Given the description of an element on the screen output the (x, y) to click on. 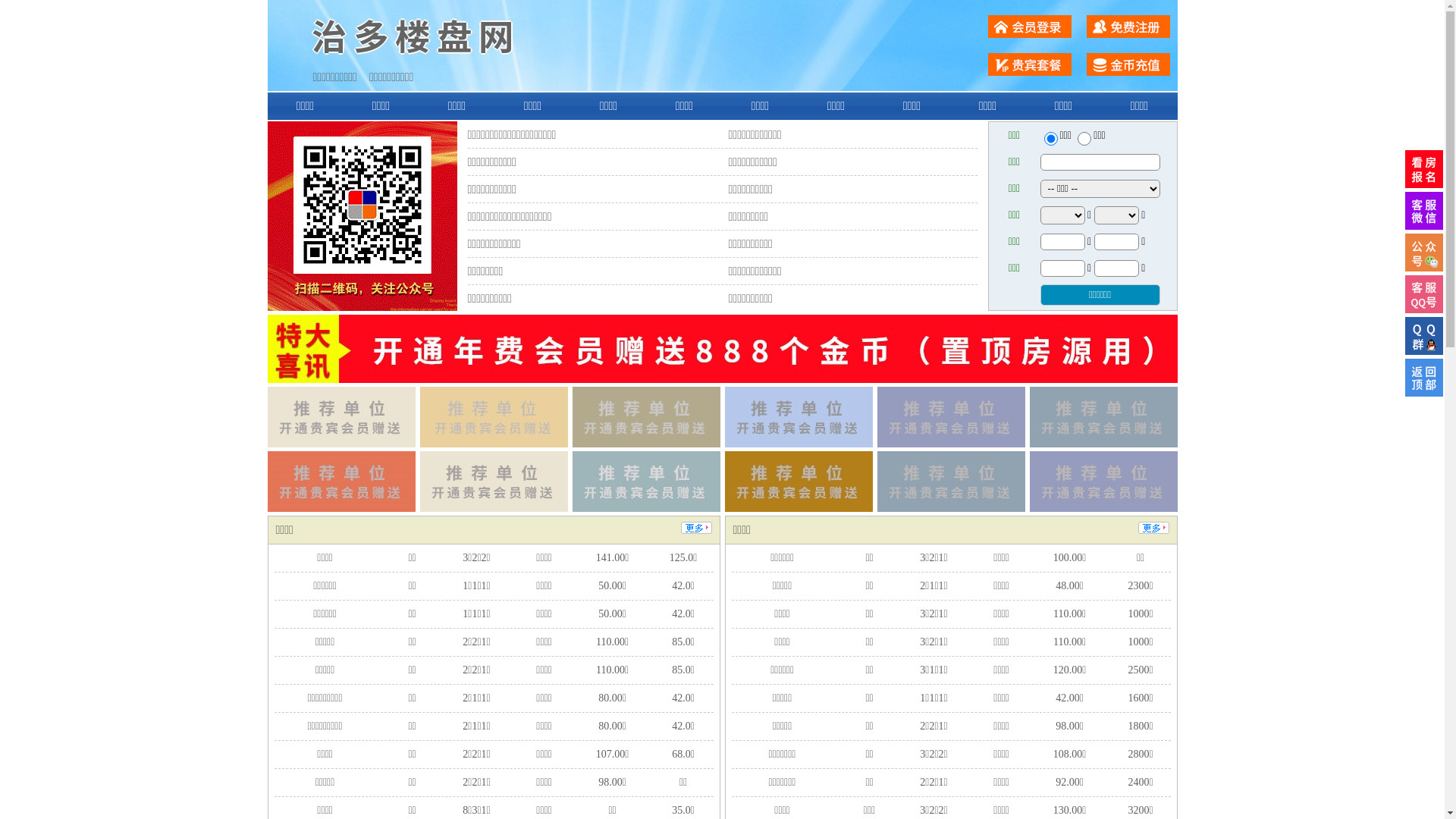
ershou Element type: text (1050, 138)
chuzu Element type: text (1084, 138)
